Given the description of an element on the screen output the (x, y) to click on. 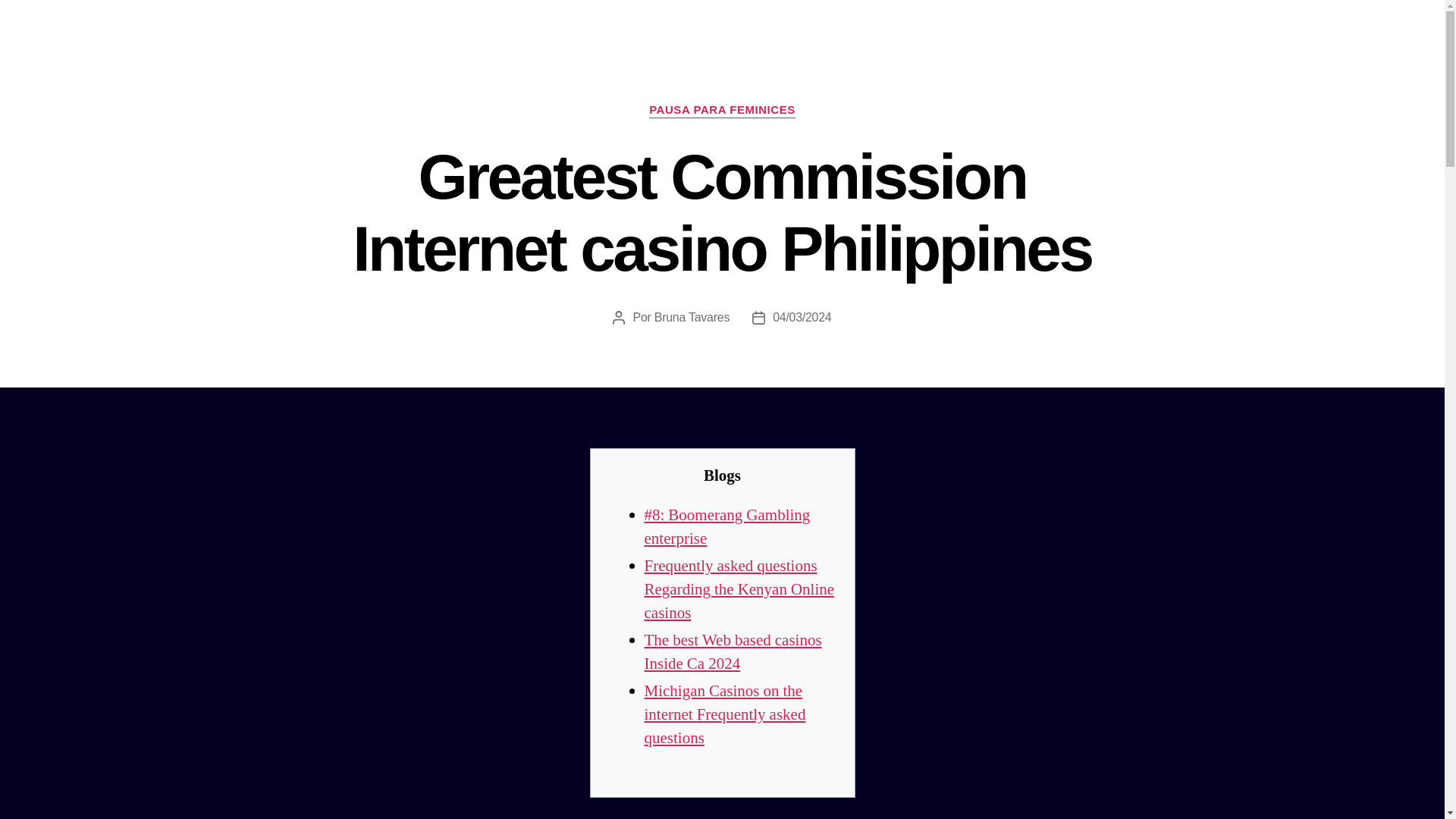
The best Web based casinos Inside Ca 2024 (733, 651)
Bruna Tavares (691, 317)
PAUSA PARA FEMINICES (721, 110)
Michigan Casinos on the internet Frequently asked questions (725, 714)
